Given the description of an element on the screen output the (x, y) to click on. 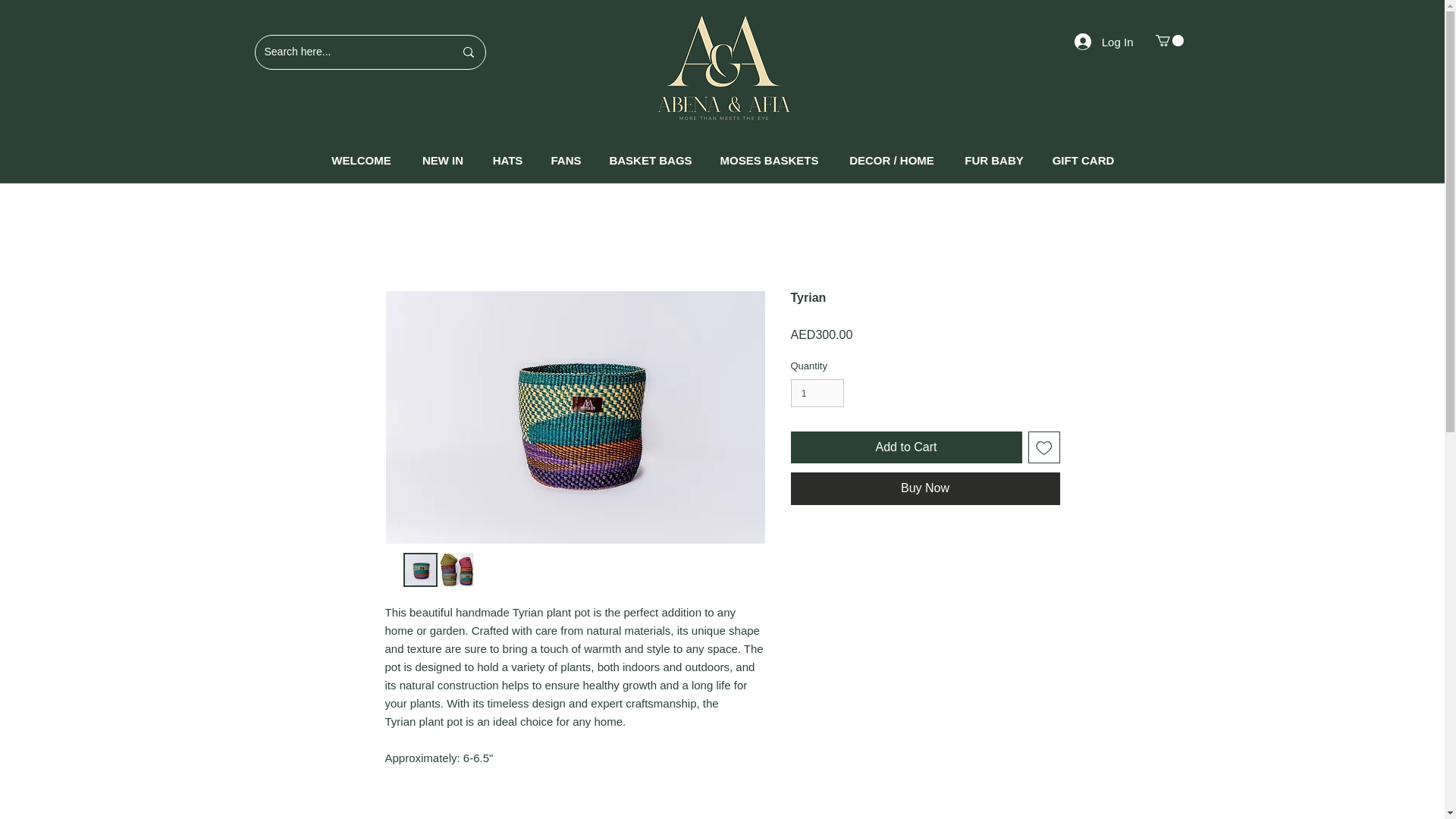
MOSES BASKETS (768, 159)
Buy Now (924, 488)
1 (817, 393)
HATS (507, 159)
Log In (1104, 41)
NEW IN (442, 159)
GIFT CARD (1082, 159)
WELCOME (360, 159)
Add to Cart (906, 447)
FANS (566, 159)
